Given the description of an element on the screen output the (x, y) to click on. 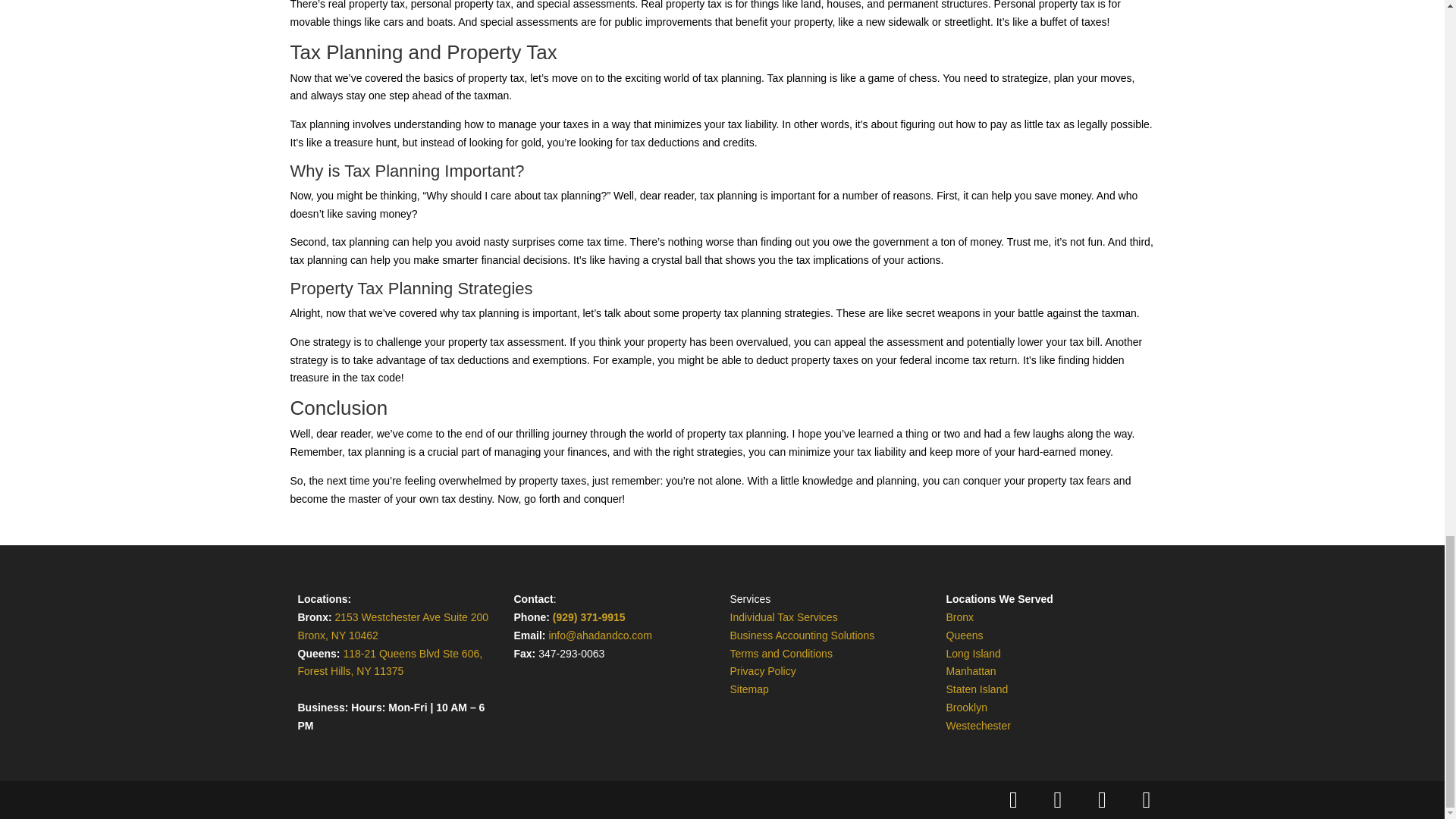
118-21 Queens Blvd Ste 606, Forest Hills, NY 11375 (389, 662)
2153 Westchester Ave Suite 200 Bronx, NY 10462 (392, 625)
